Given the description of an element on the screen output the (x, y) to click on. 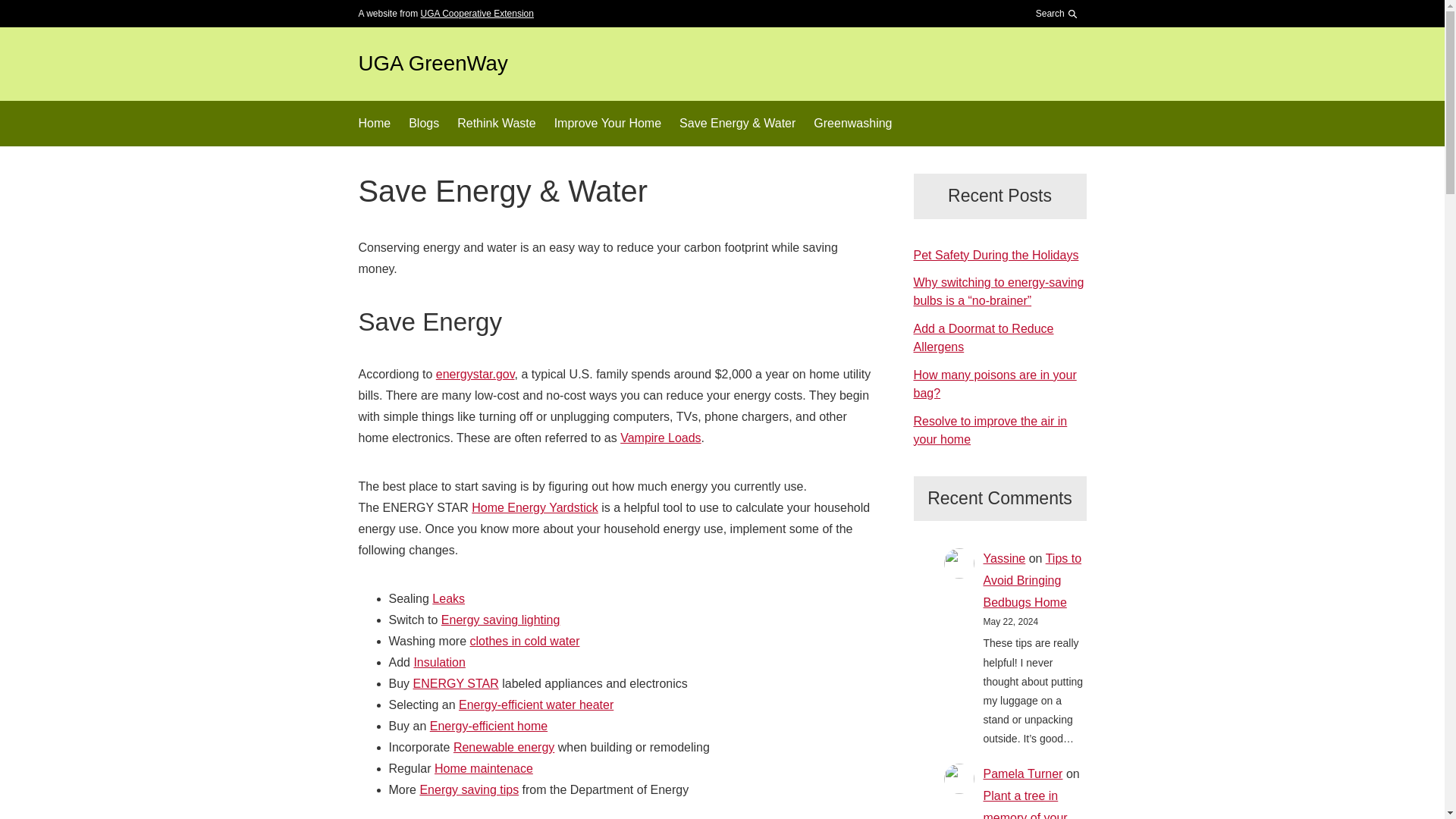
How many poisons are in your bag? (993, 383)
Yassine (1003, 558)
Home (374, 123)
Energy-efficient home (488, 725)
Insulation (439, 662)
UGA Cooperative Extension (477, 13)
UGA GreenWay (432, 63)
Greenwashing (852, 123)
Search (1053, 51)
Home maintenace (482, 768)
Rethink Waste (496, 123)
Resolve to improve the air in your home (989, 429)
ENERGY STAR (456, 683)
Home Energy Yardstick (534, 507)
Energy-efficient water heater (535, 704)
